Given the description of an element on the screen output the (x, y) to click on. 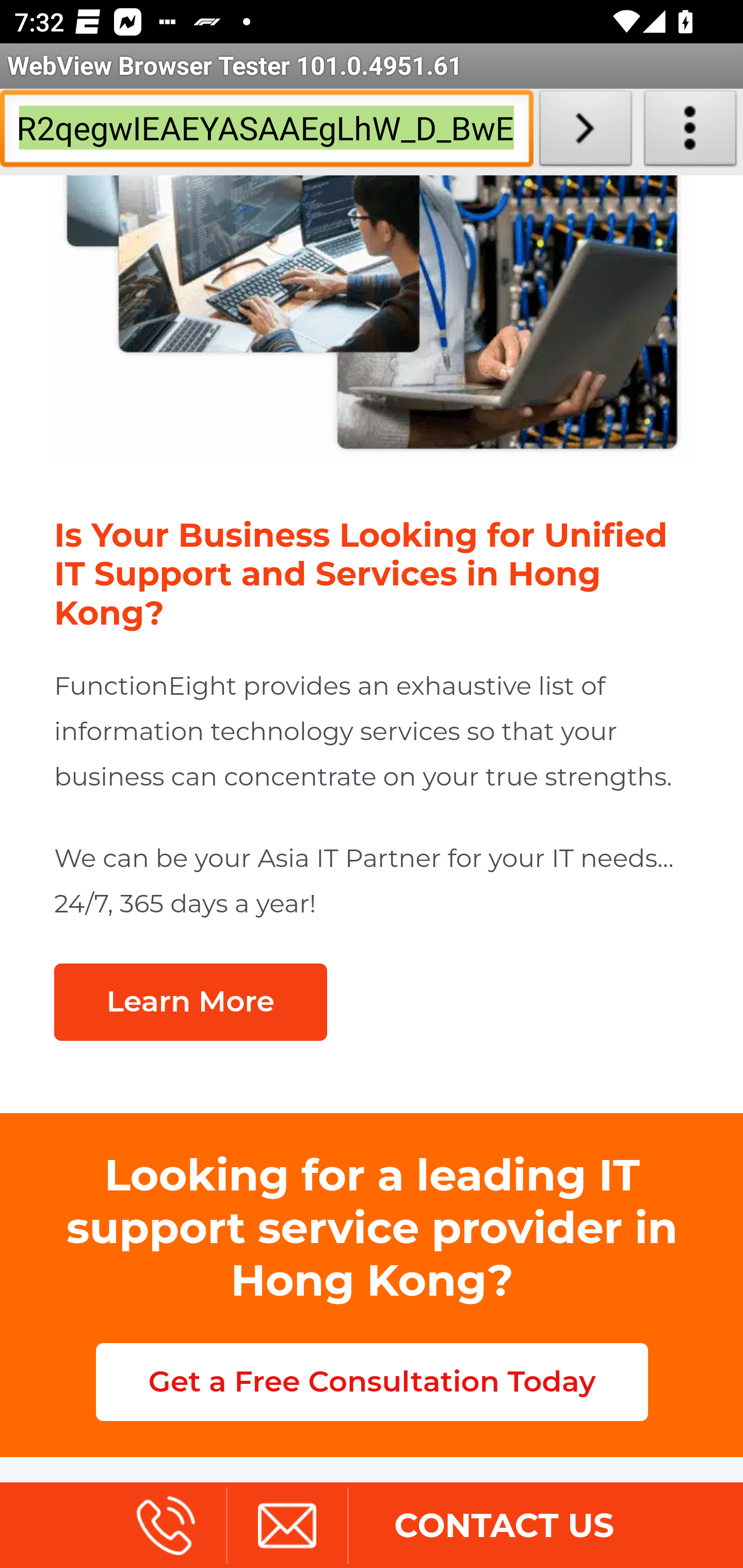
Load URL (585, 132)
About WebView (690, 132)
Learn More (190, 1003)
Get a Free Consultation Today (371, 1382)
email (286, 1527)
CONTACT US (504, 1527)
